Given the description of an element on the screen output the (x, y) to click on. 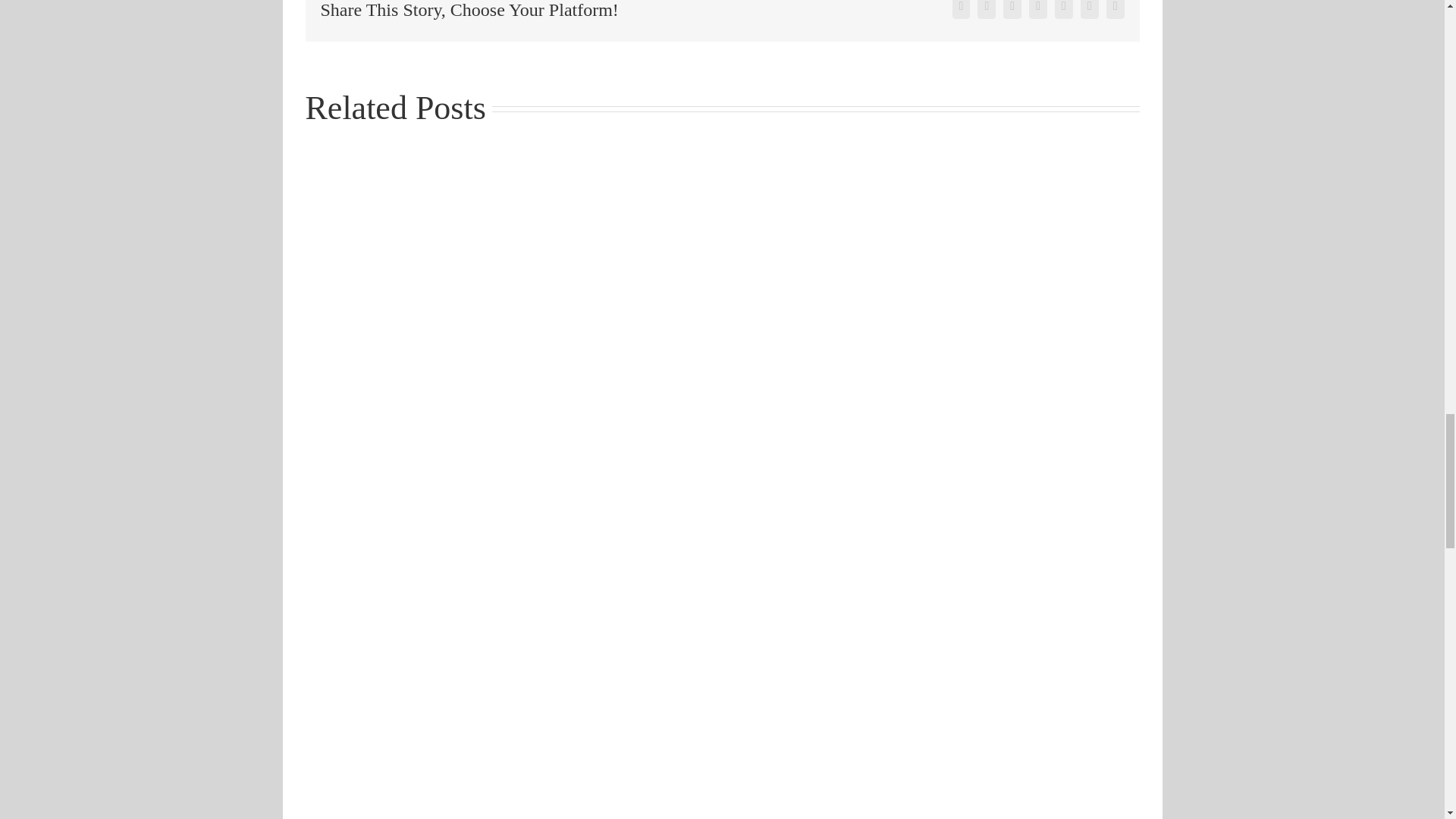
Facebook (961, 9)
Linkedin (1012, 9)
Reddit (1037, 9)
Twitter (985, 9)
Vk (1115, 9)
Pinterest (1089, 9)
